Given the description of an element on the screen output the (x, y) to click on. 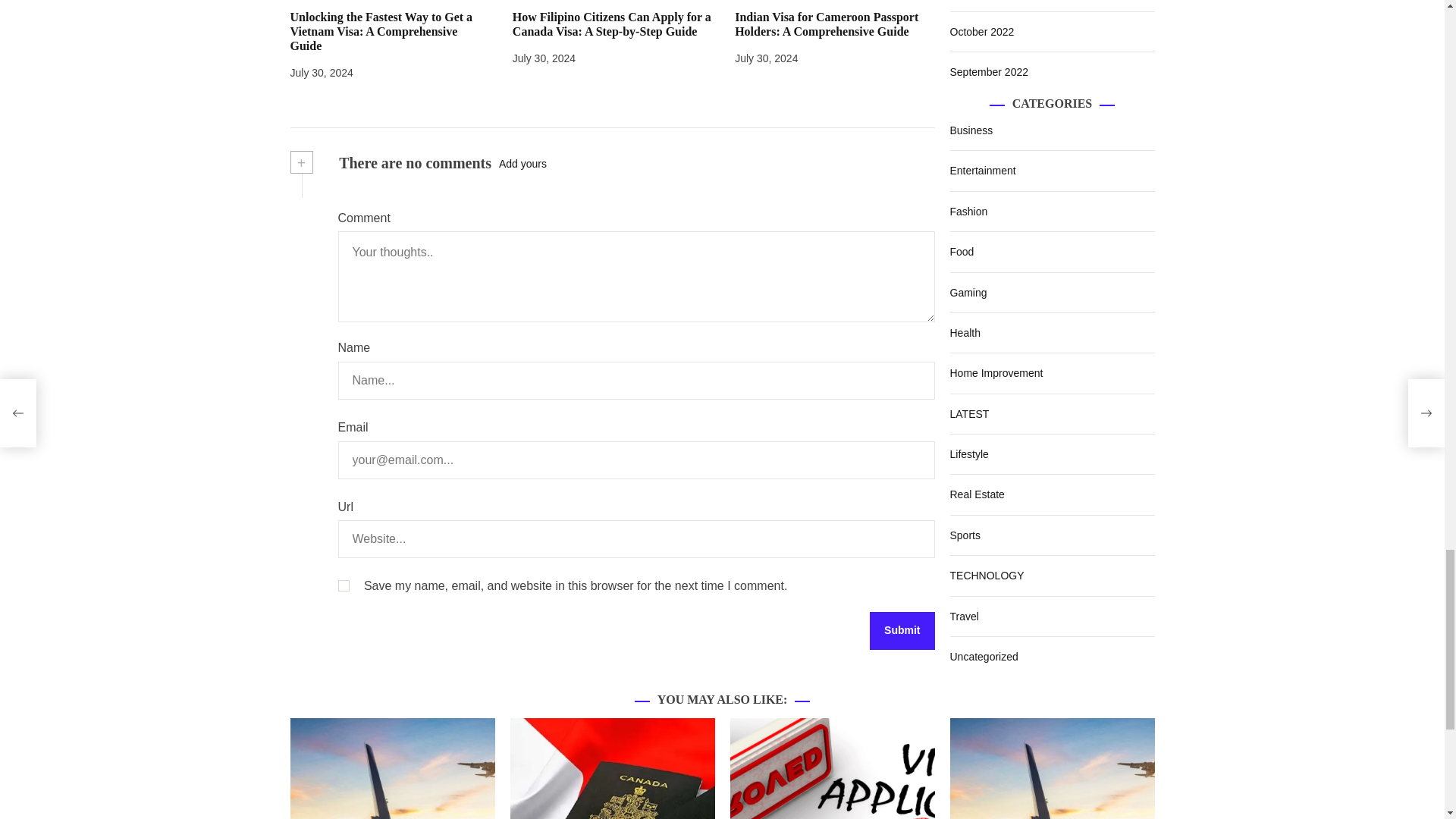
yes (343, 585)
Submit (901, 630)
